Given the description of an element on the screen output the (x, y) to click on. 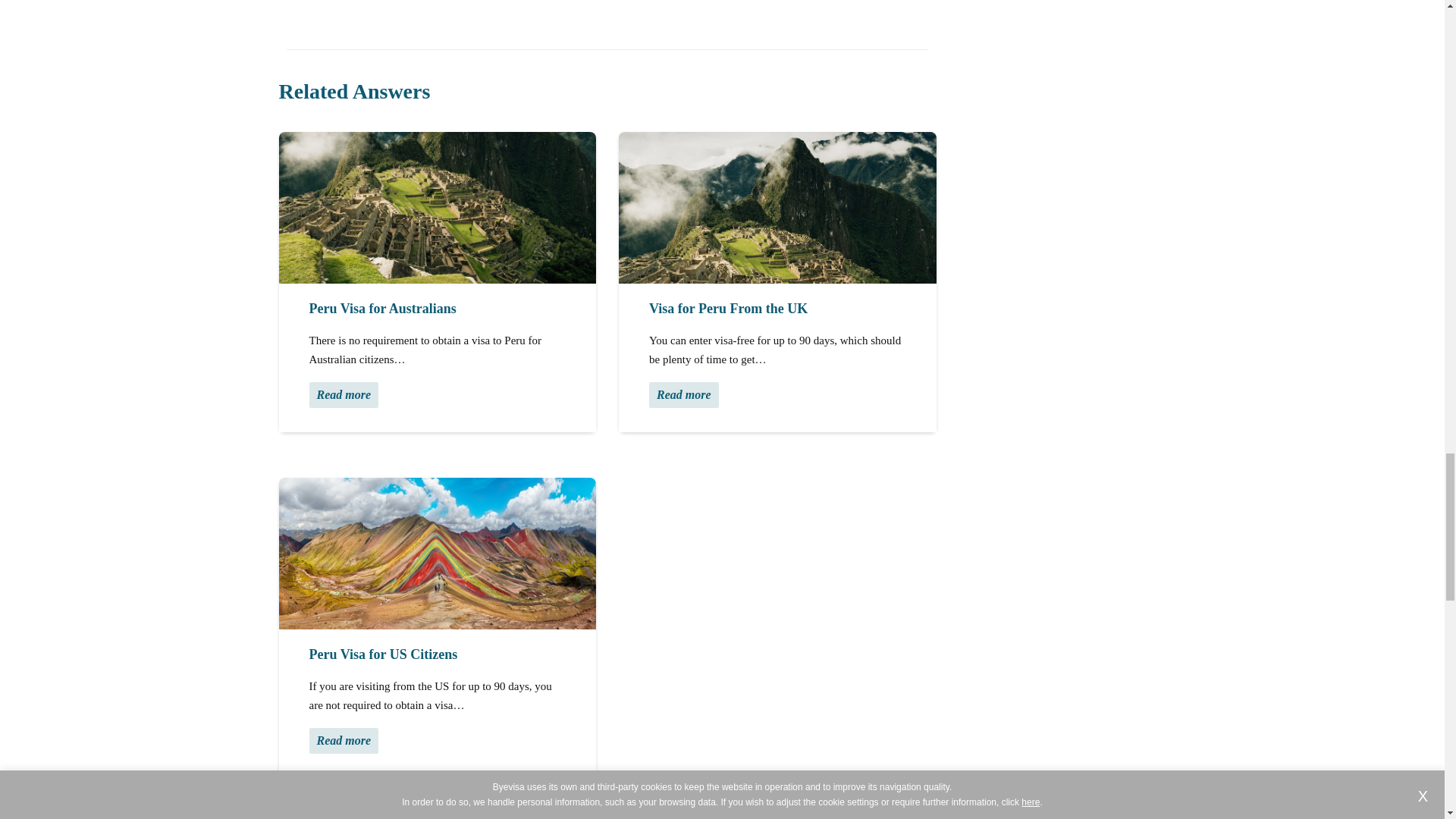
Visa for Peru From the UK (777, 207)
Peru Visa for Australians (437, 207)
Peru Visa for US Citizens (437, 553)
Read more (684, 394)
Read more (343, 394)
Read more (343, 740)
